Given the description of an element on the screen output the (x, y) to click on. 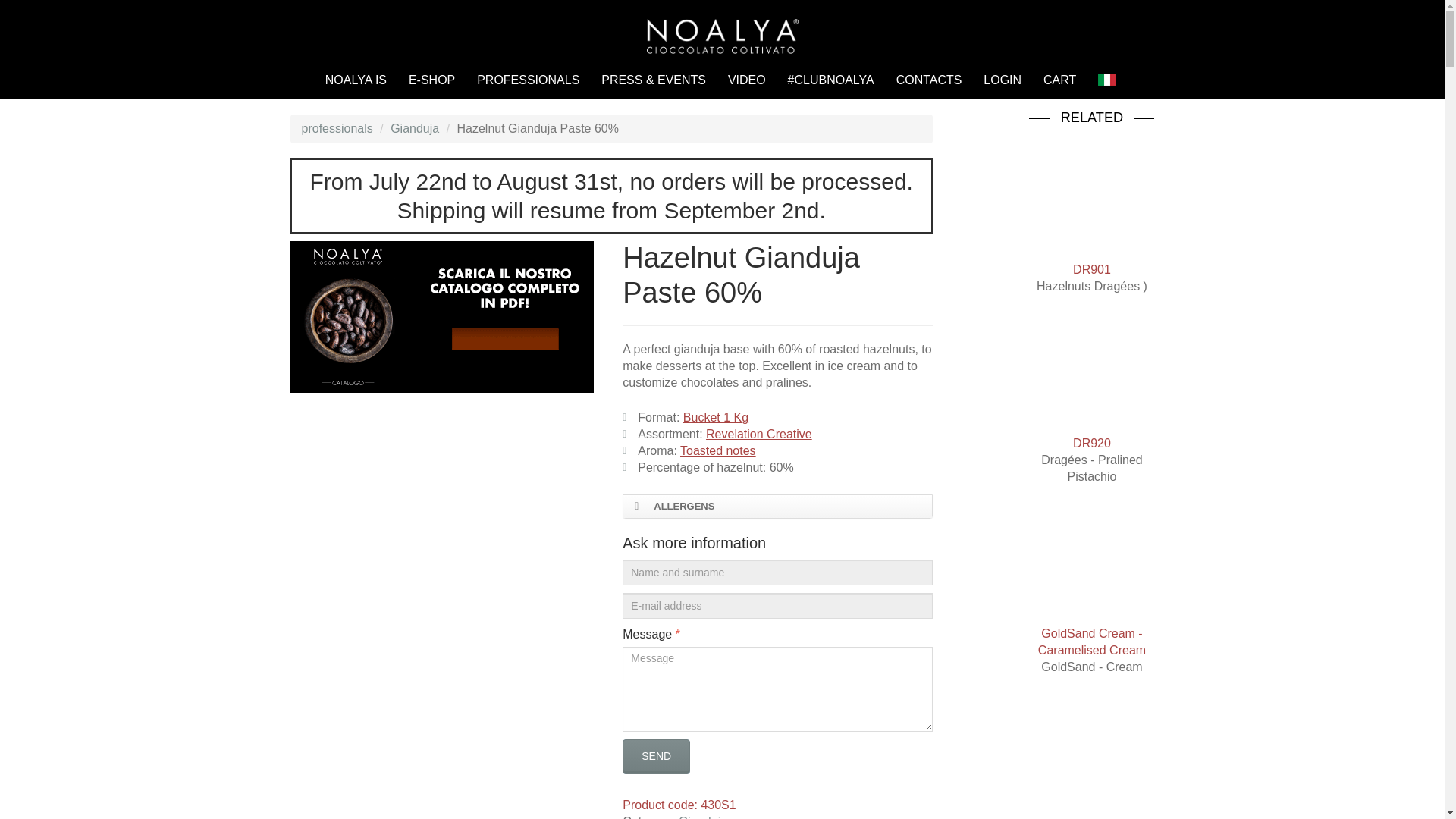
Guarda il sito web italiano (1106, 80)
VIDEO (746, 80)
cart (1059, 80)
Toasted notes (717, 450)
CONTACTS (929, 80)
professionals (336, 128)
Bucket 1 Kg (715, 417)
SEND (656, 756)
CART (1059, 80)
E-SHOP (431, 80)
